Given the description of an element on the screen output the (x, y) to click on. 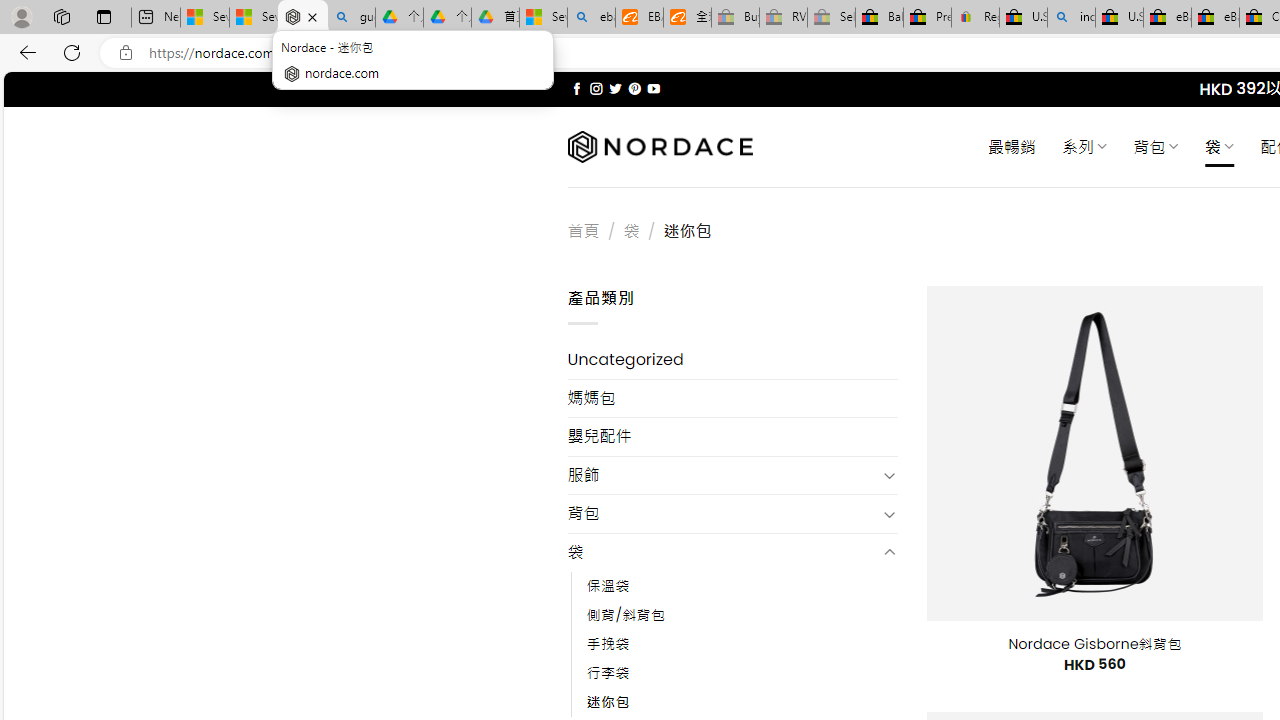
Uncategorized (732, 359)
Follow on Instagram (596, 88)
ebay - Search (591, 17)
Press Room - eBay Inc. (927, 17)
